Given the description of an element on the screen output the (x, y) to click on. 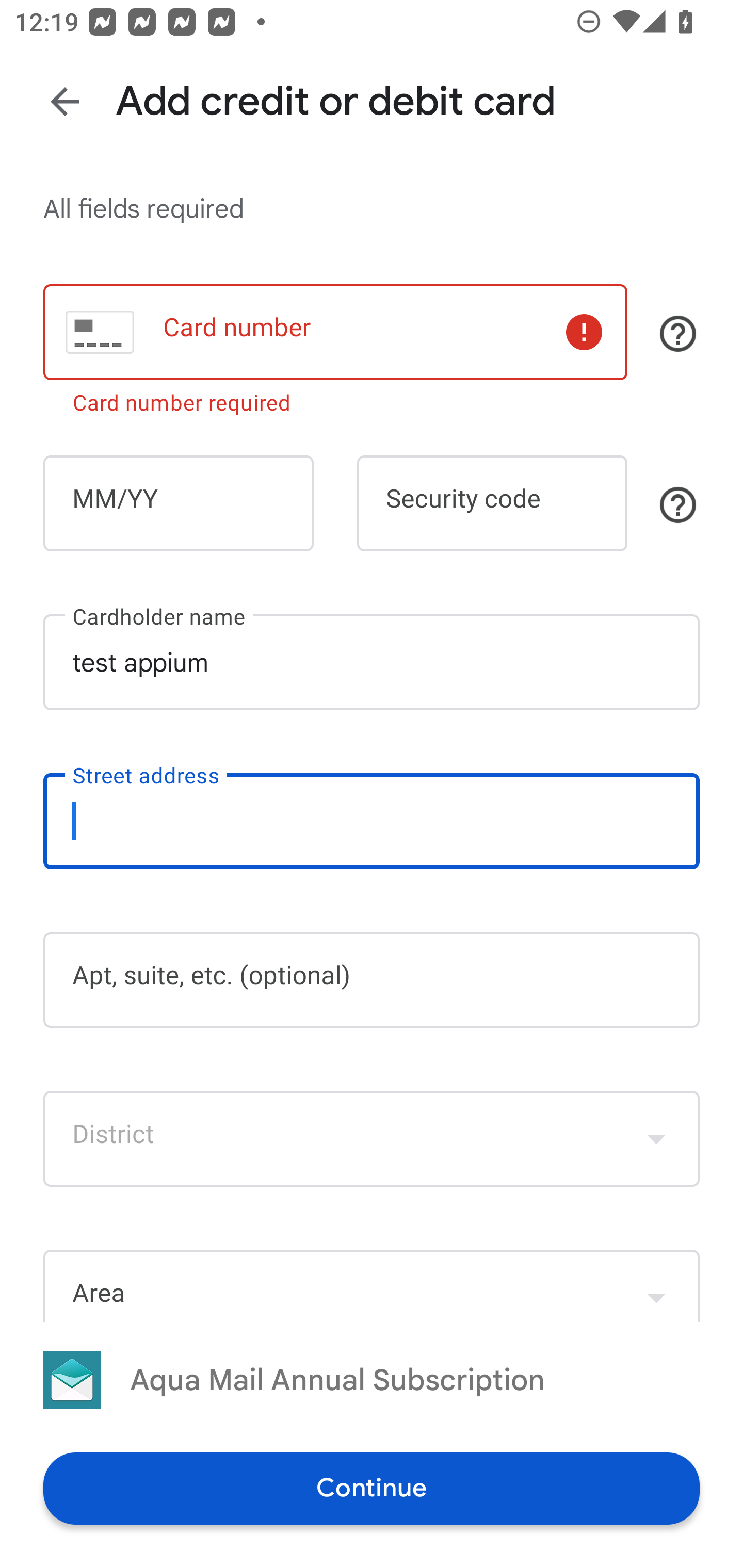
Back (64, 101)
Card number (335, 331)
Button, shows cards that are accepted for payment (677, 333)
Expiration date, 2 digit month, 2 digit year (178, 502)
Security code (492, 502)
Security code help (677, 504)
test appium (371, 662)
Street address (371, 820)
Apt, suite, etc. (optional) (371, 979)
District (371, 1138)
Show dropdown menu (655, 1139)
Area (371, 1285)
Show dropdown menu (655, 1287)
Continue (371, 1487)
